Given the description of an element on the screen output the (x, y) to click on. 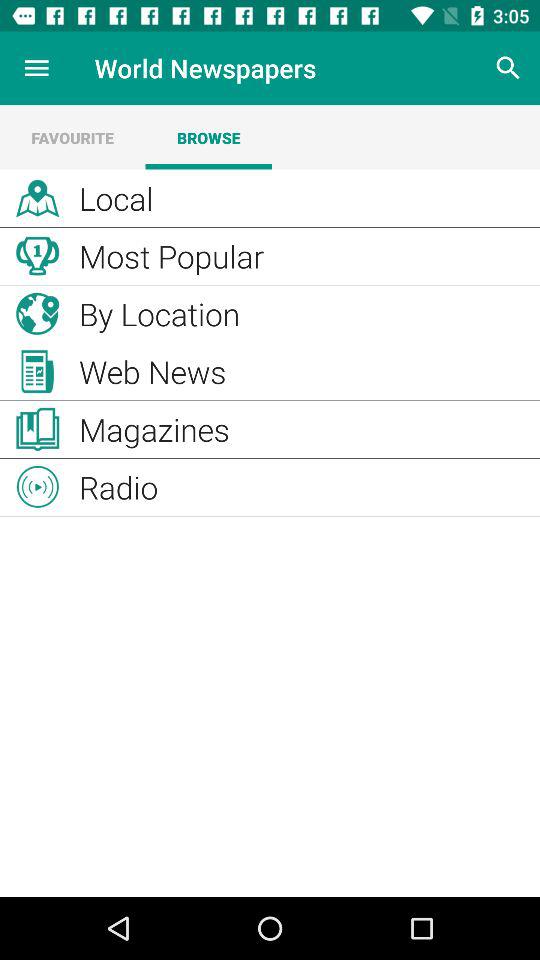
open app next to the world newspapers app (508, 67)
